Given the description of an element on the screen output the (x, y) to click on. 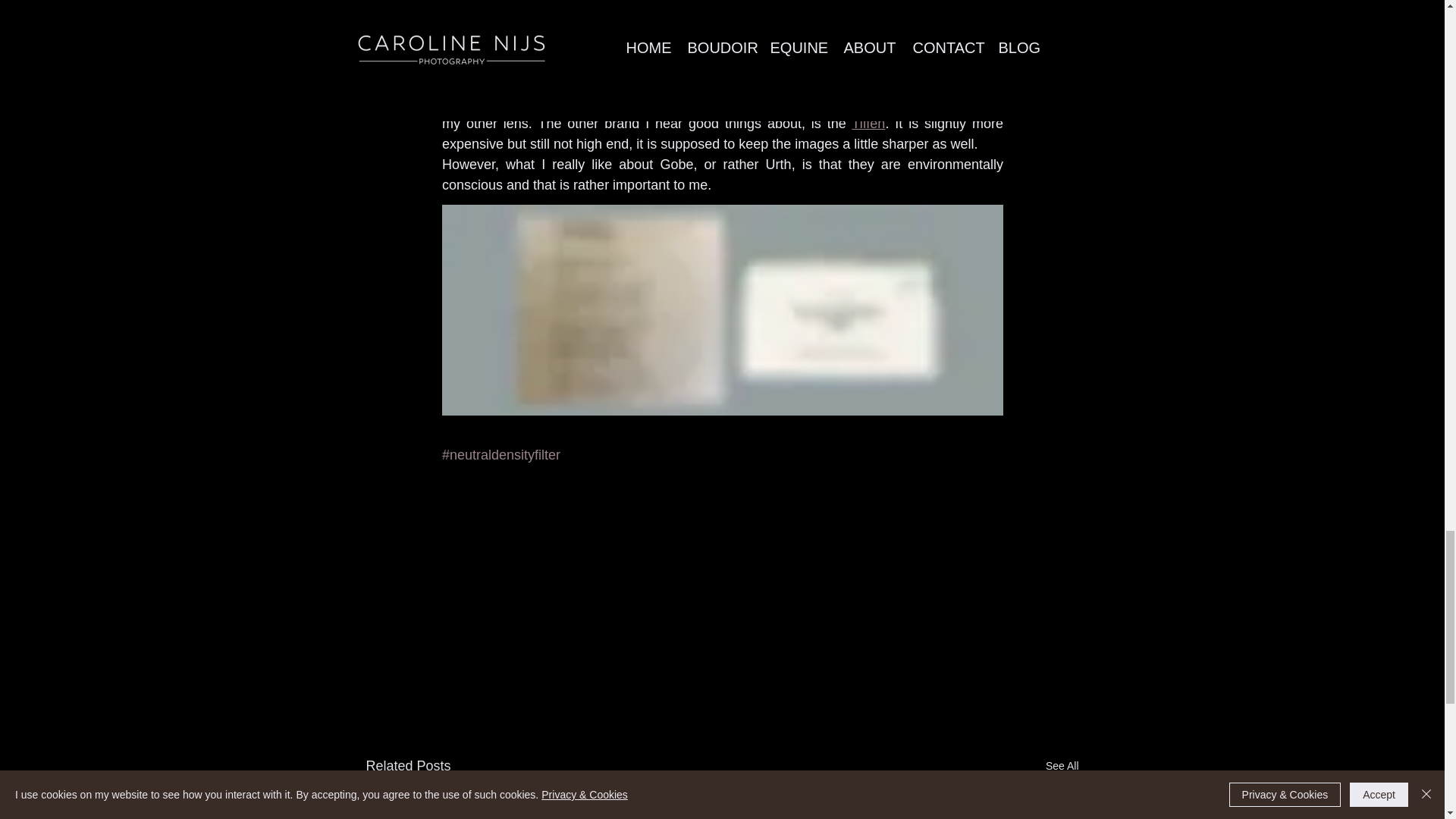
See All (1061, 766)
Tiffen (868, 123)
